Given the description of an element on the screen output the (x, y) to click on. 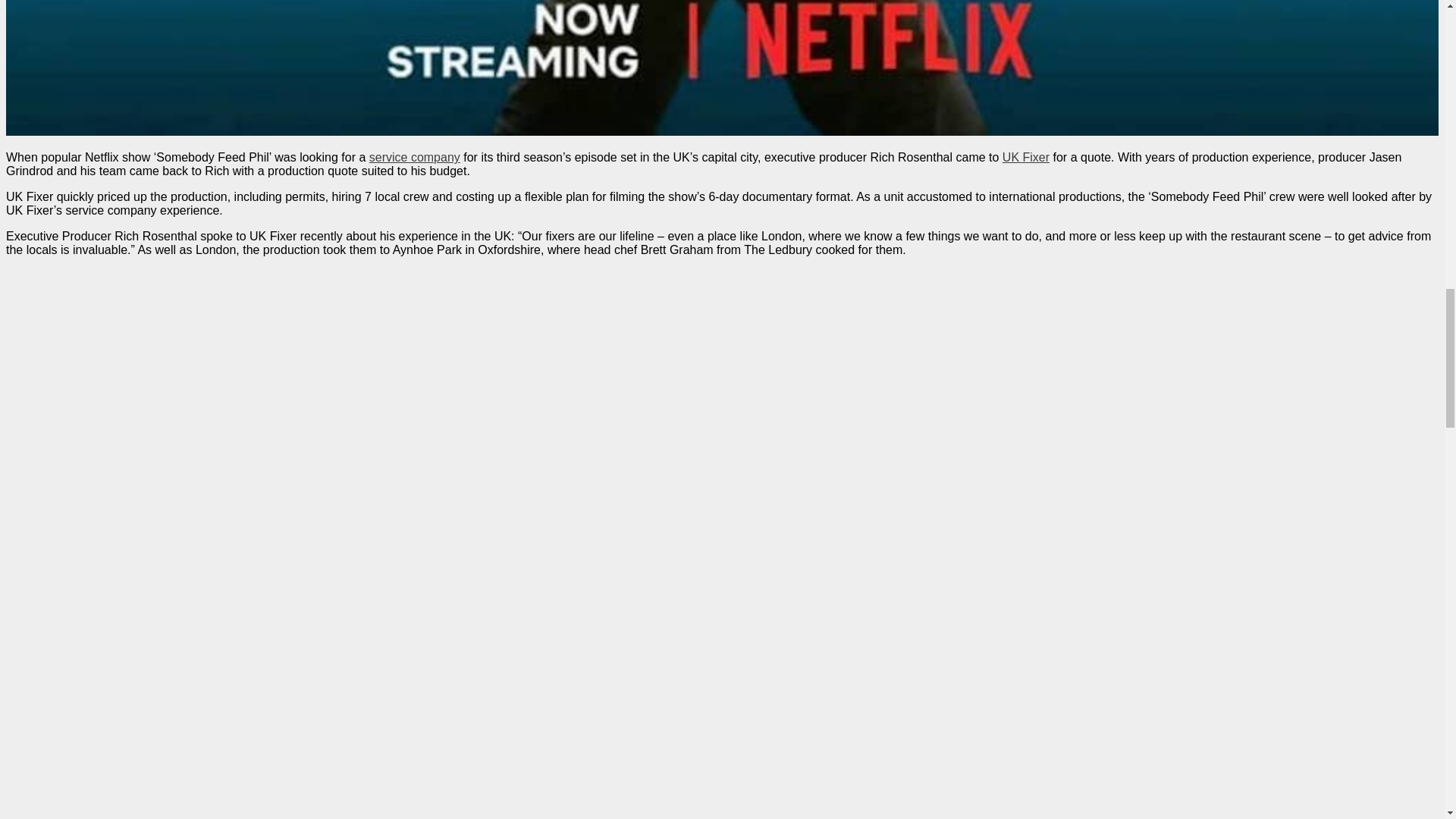
service company (414, 156)
UK Fixer (1026, 156)
